Given the description of an element on the screen output the (x, y) to click on. 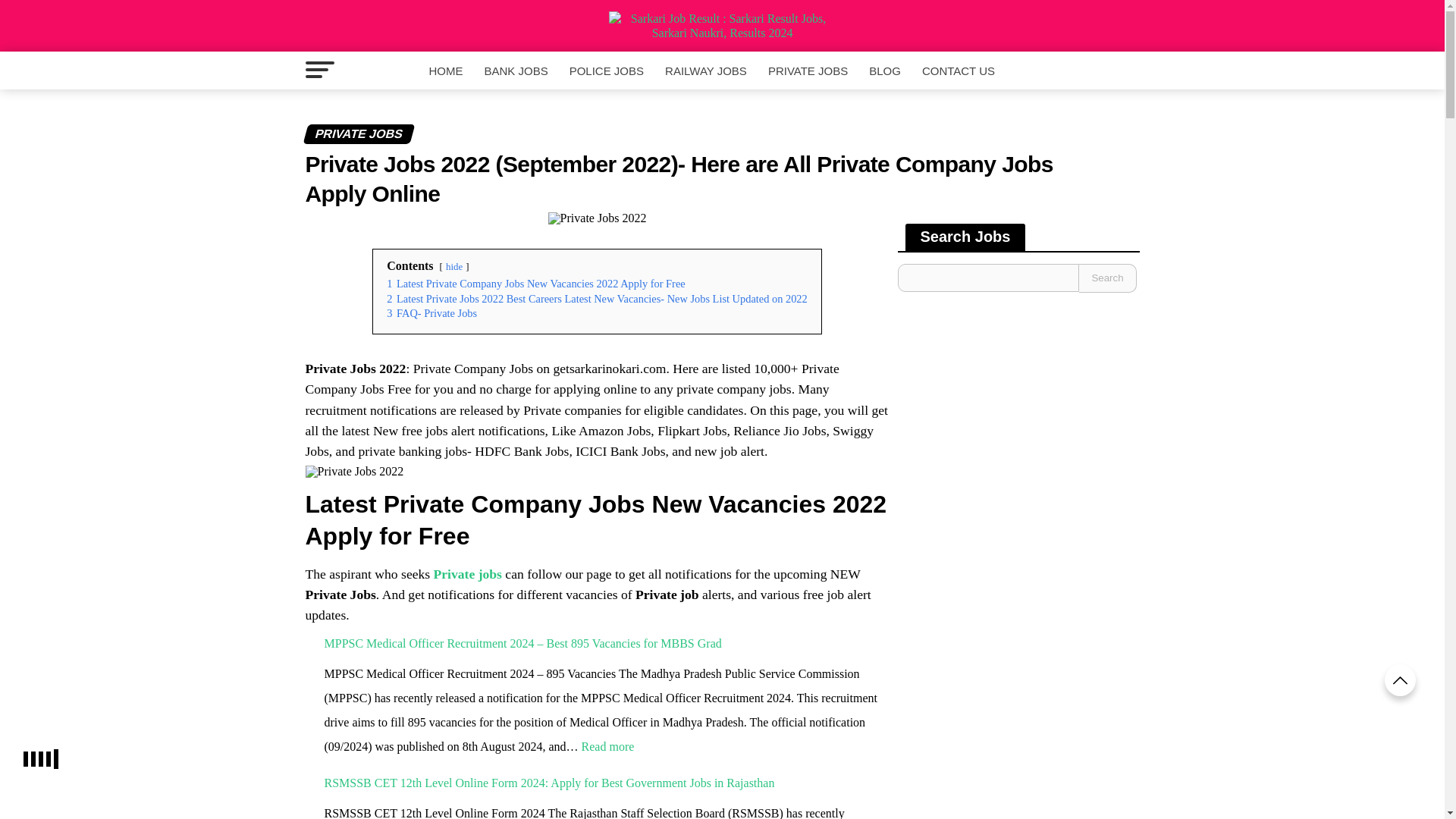
PRIVATE JOBS (721, 130)
POLICE JOBS (606, 70)
HOME (445, 70)
BLOG (885, 70)
Private jobs (467, 573)
CONTACT US (958, 70)
hide (454, 266)
Search (1107, 277)
PRIVATE JOBS (807, 70)
